Given the description of an element on the screen output the (x, y) to click on. 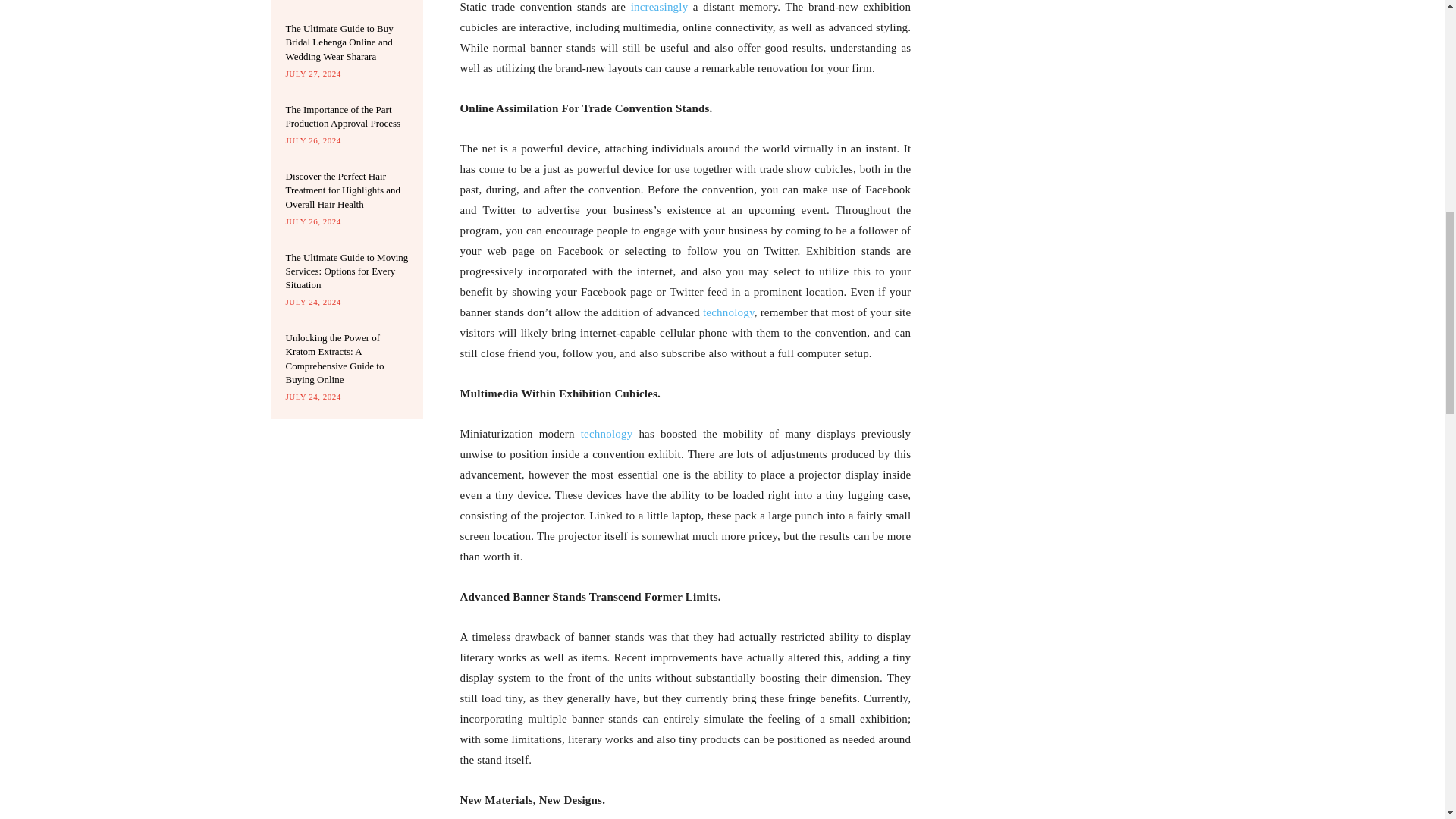
The Importance of the Part Production Approval Process (342, 116)
